Given the description of an element on the screen output the (x, y) to click on. 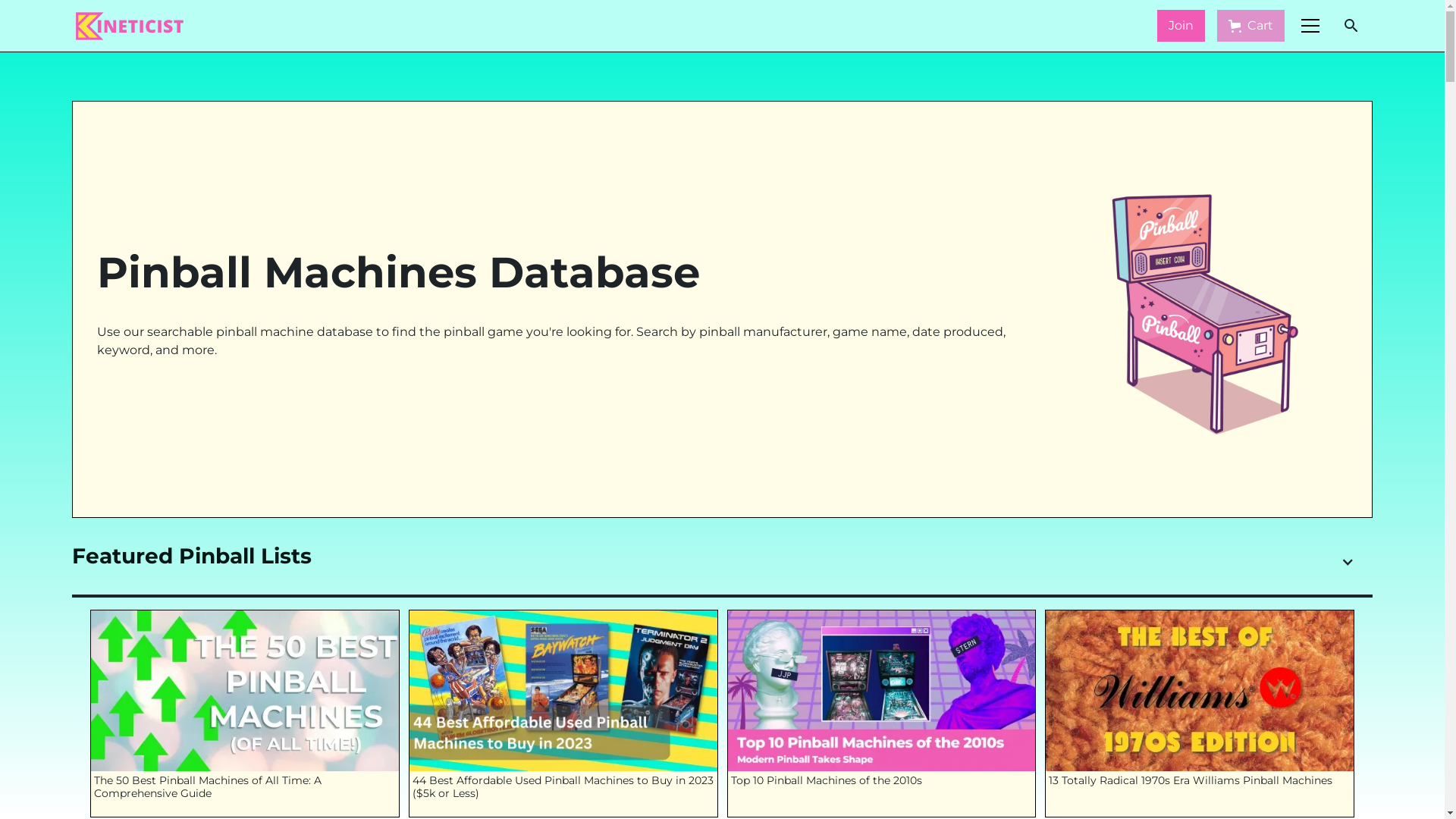
Join Element type: text (1180, 25)
13 Totally Radical 1970s Era Williams Pinball Machines Element type: text (1199, 713)
Cart Element type: text (1250, 25)
Top 10 Pinball Machines of the 2010s Element type: text (881, 713)
